Given the description of an element on the screen output the (x, y) to click on. 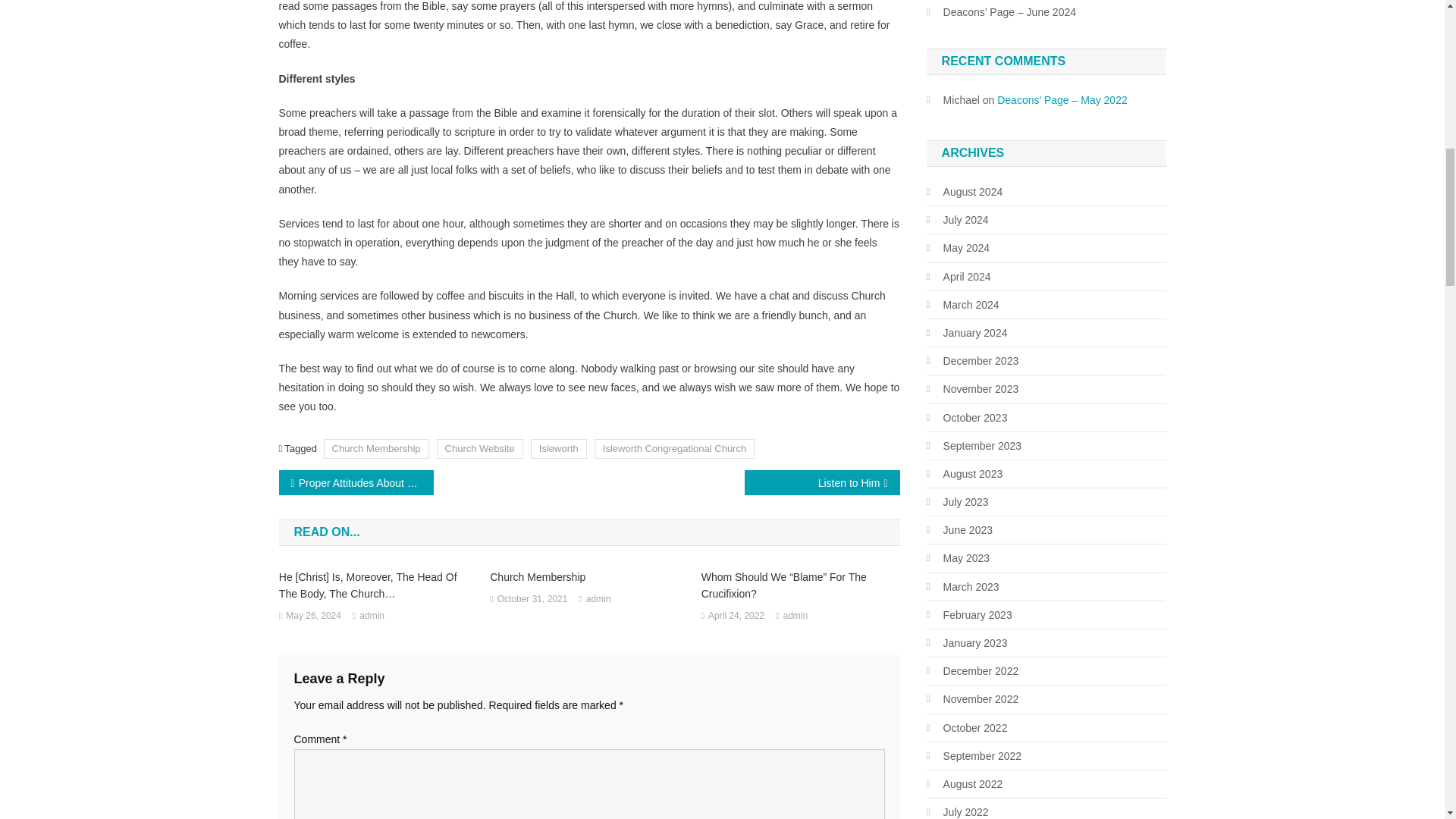
Proper Attitudes About Worship (356, 482)
Church Membership (376, 447)
Isleworth Congregational Church (674, 447)
Church Membership (588, 576)
October 31, 2021 (532, 599)
admin (598, 599)
admin (371, 616)
Listen to Him (821, 482)
Church Website (479, 447)
Isleworth (558, 447)
